Given the description of an element on the screen output the (x, y) to click on. 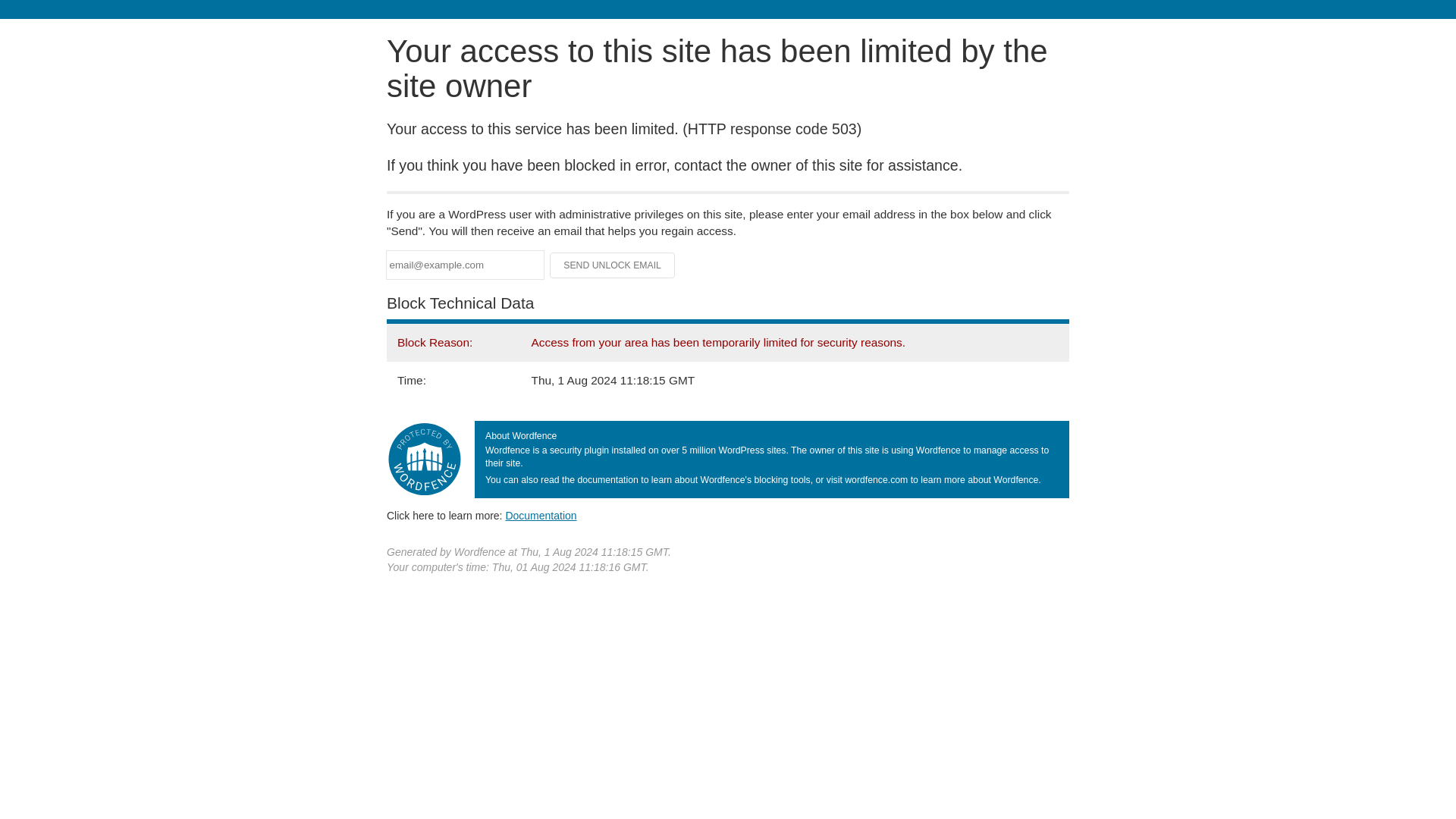
Documentation (540, 515)
Send Unlock Email (612, 265)
Send Unlock Email (612, 265)
